Given the description of an element on the screen output the (x, y) to click on. 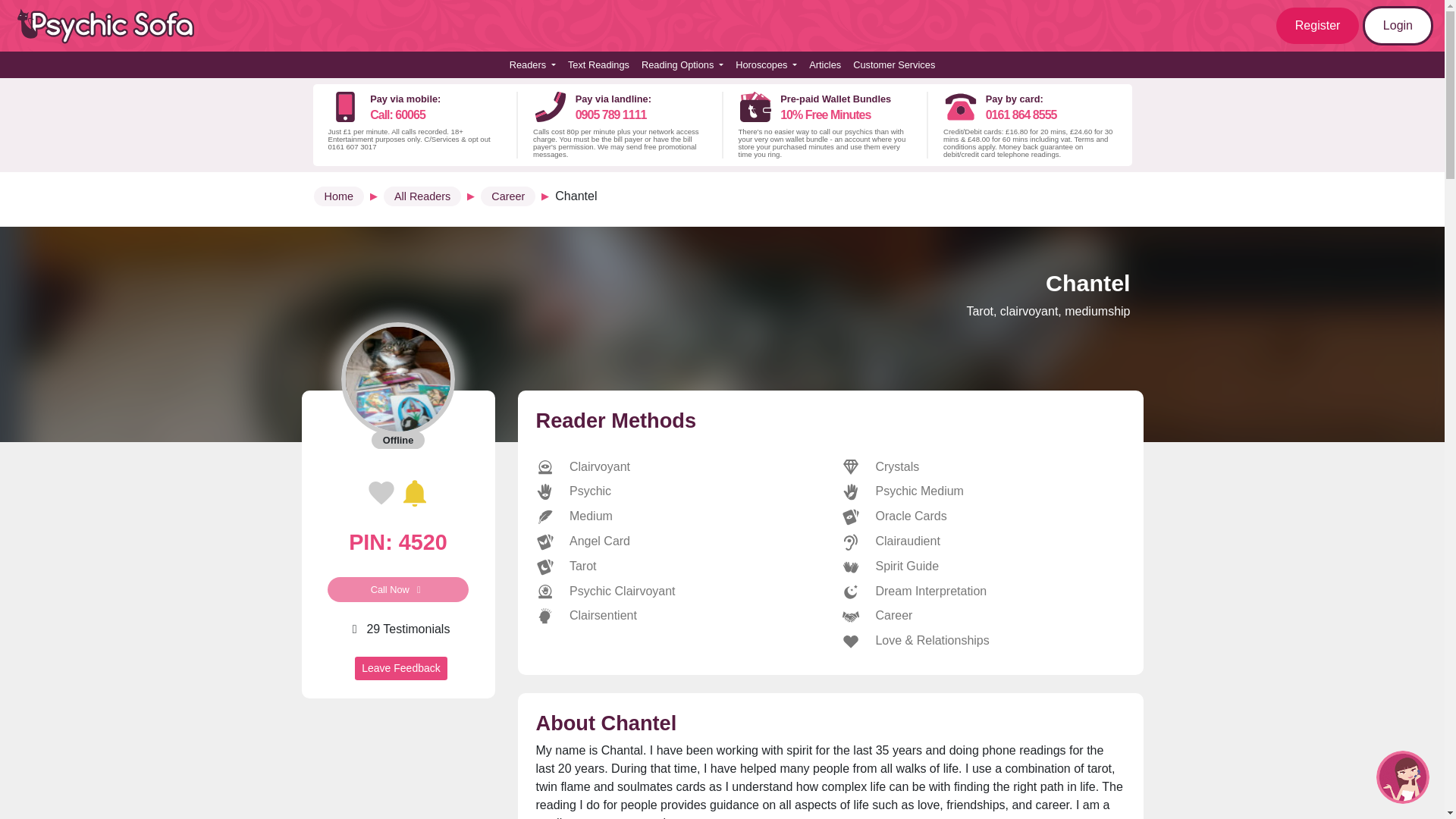
Psychic Sofa Home Page Link (113, 25)
Text Readings (598, 64)
Horoscopes (766, 64)
Register (1317, 25)
Reading Options (681, 64)
Login (1397, 25)
Readers (532, 64)
